Given the description of an element on the screen output the (x, y) to click on. 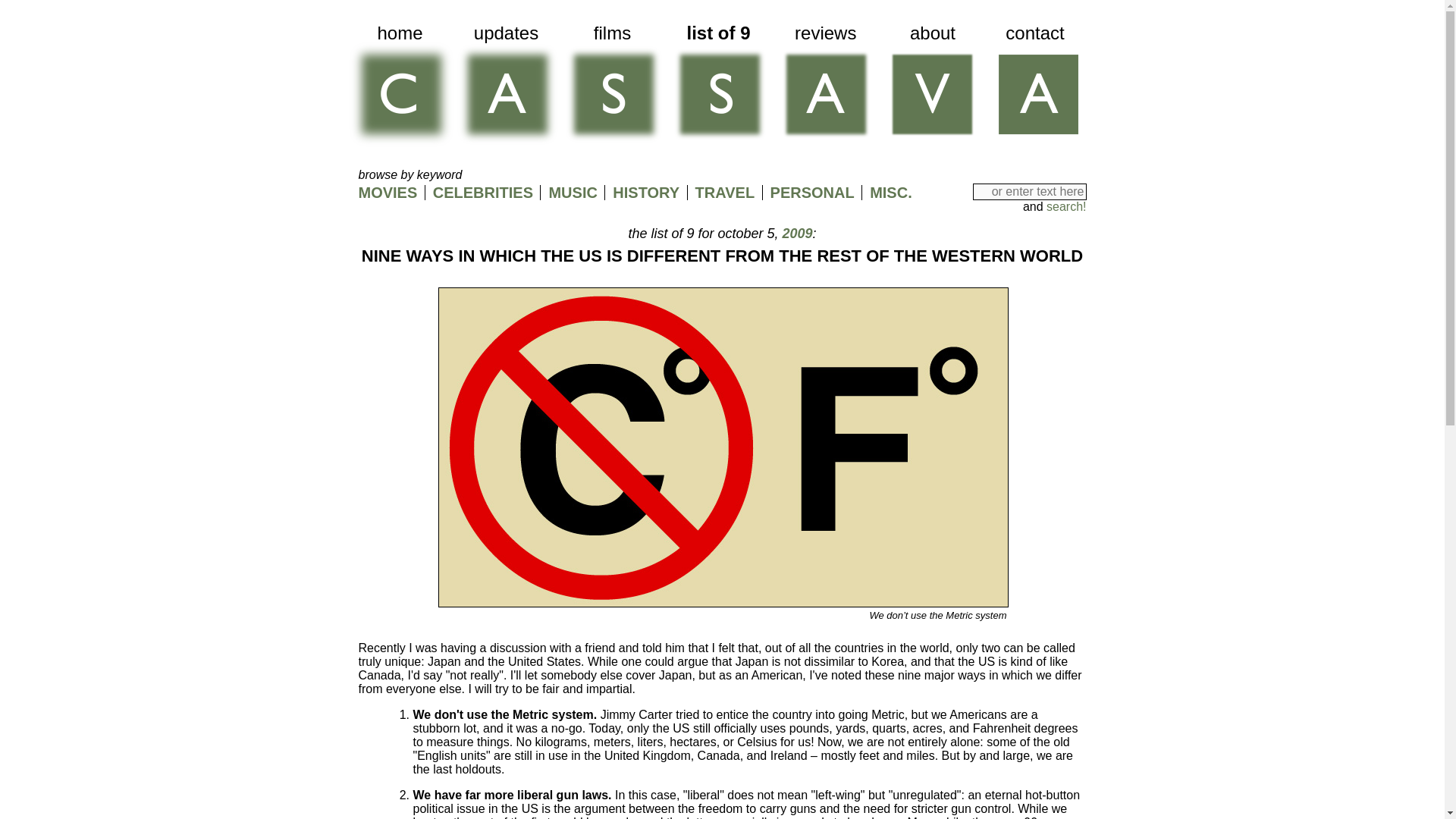
TRAVEL (725, 192)
MOVIES (387, 192)
CELEBRITIES (482, 192)
home (399, 85)
MUSIC (572, 192)
films (611, 85)
HISTORY (645, 192)
